Given the description of an element on the screen output the (x, y) to click on. 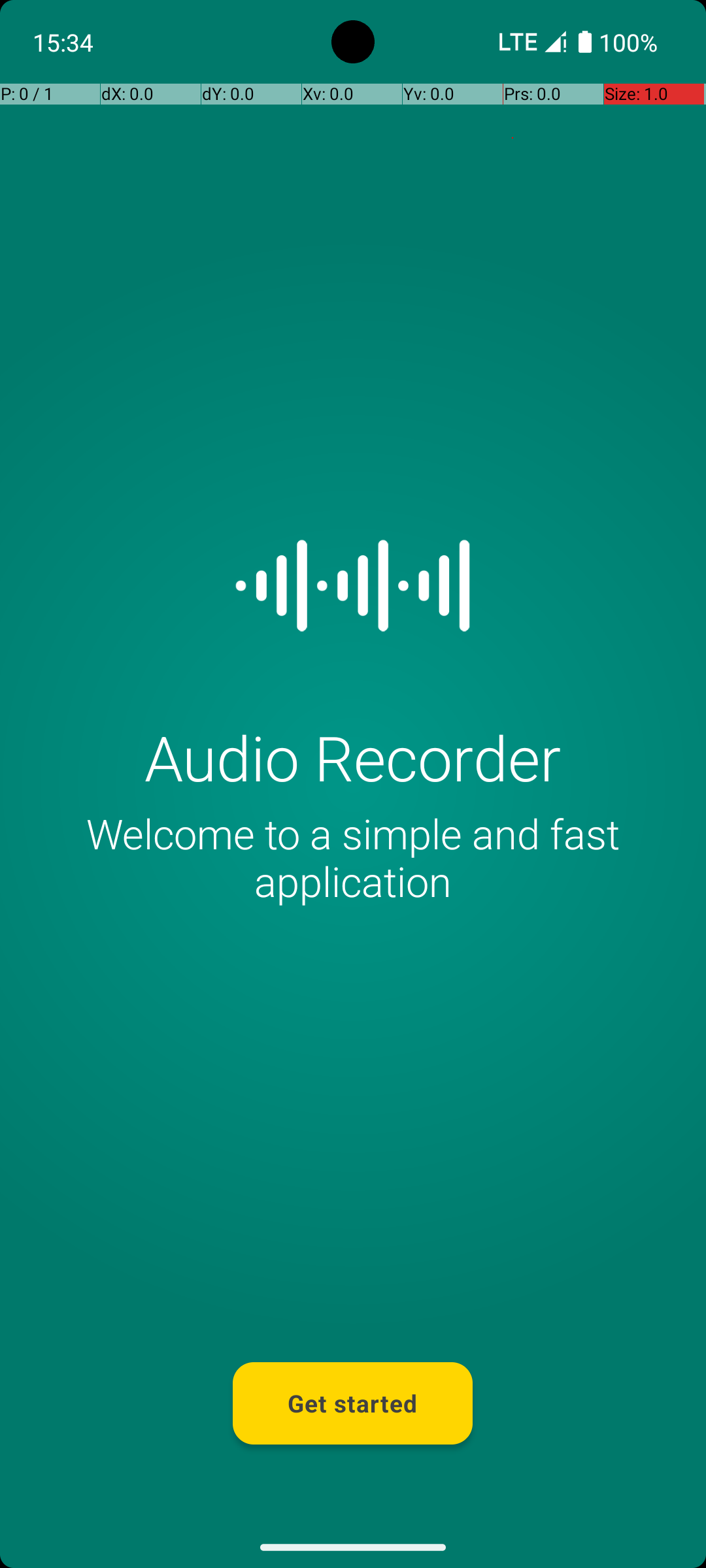
Welcome to a simple and fast application Element type: android.widget.TextView (352, 856)
